Given the description of an element on the screen output the (x, y) to click on. 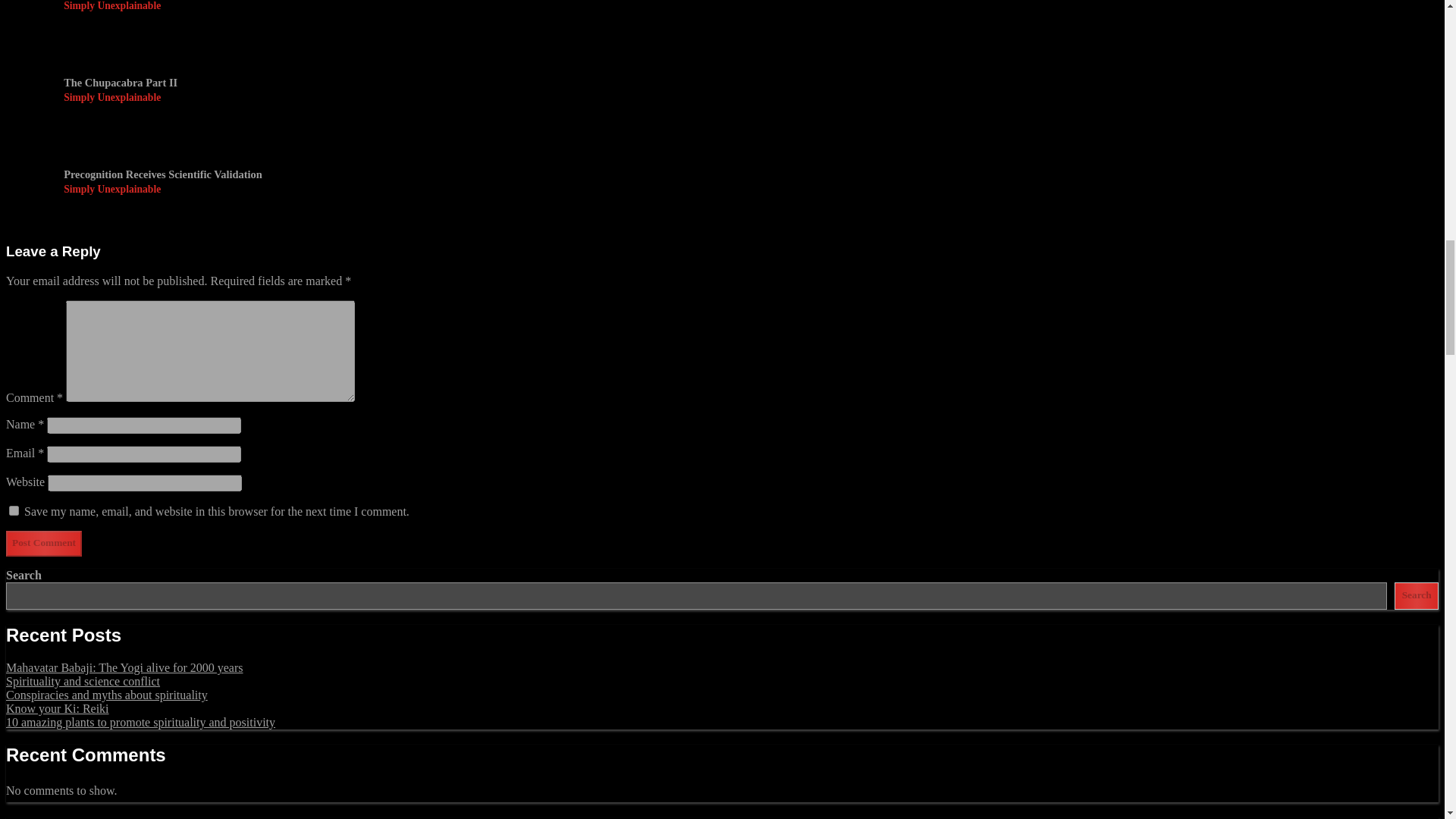
Simply Unexplainable (120, 97)
Simply Unexplainable (112, 6)
The Chupacabra Part II (120, 82)
Post Comment (43, 543)
Simply Unexplainable (163, 189)
yes (13, 510)
Precognition Receives Scientific Validation (163, 174)
